Given the description of an element on the screen output the (x, y) to click on. 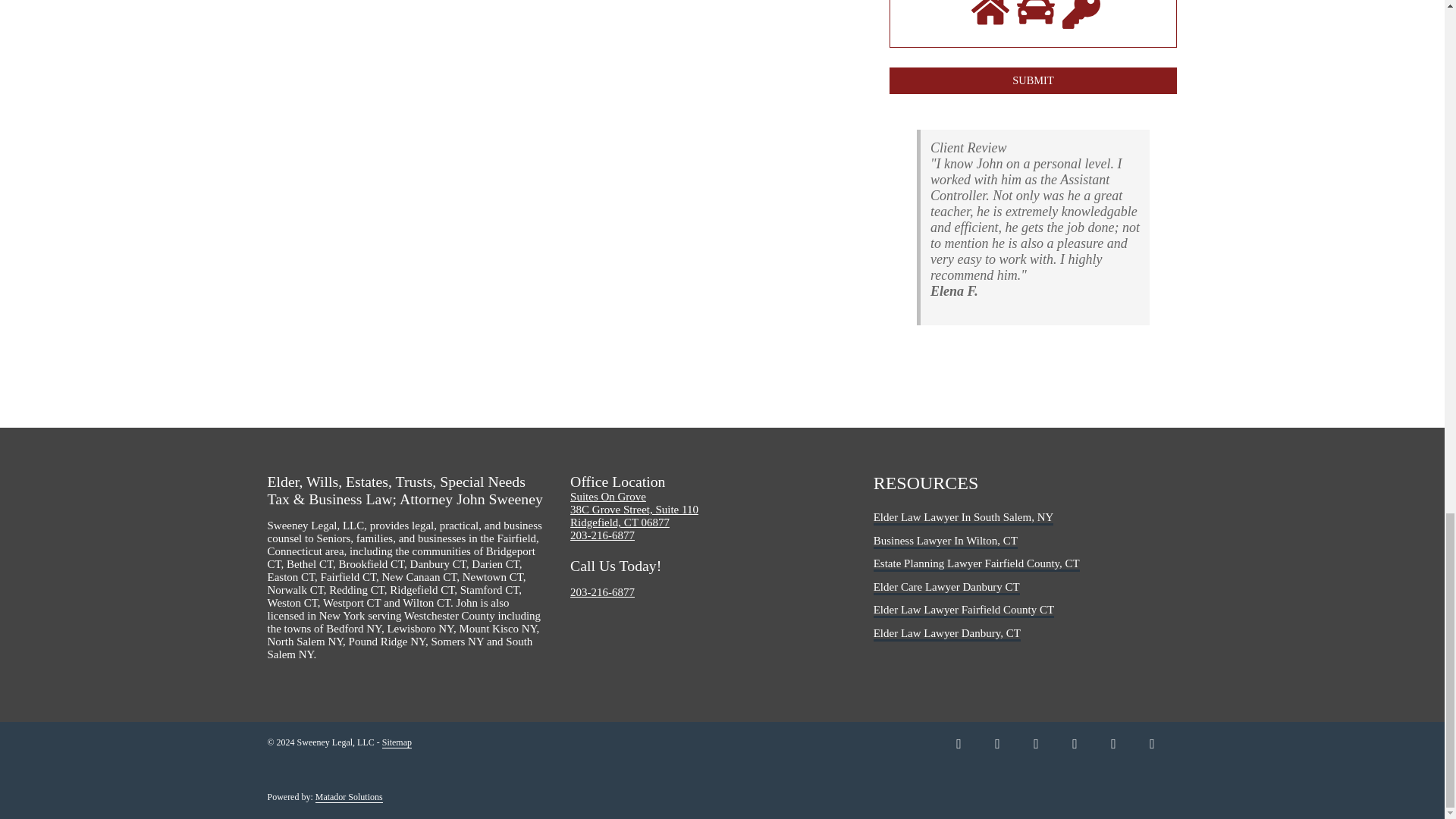
Submit (1032, 80)
